Given the description of an element on the screen output the (x, y) to click on. 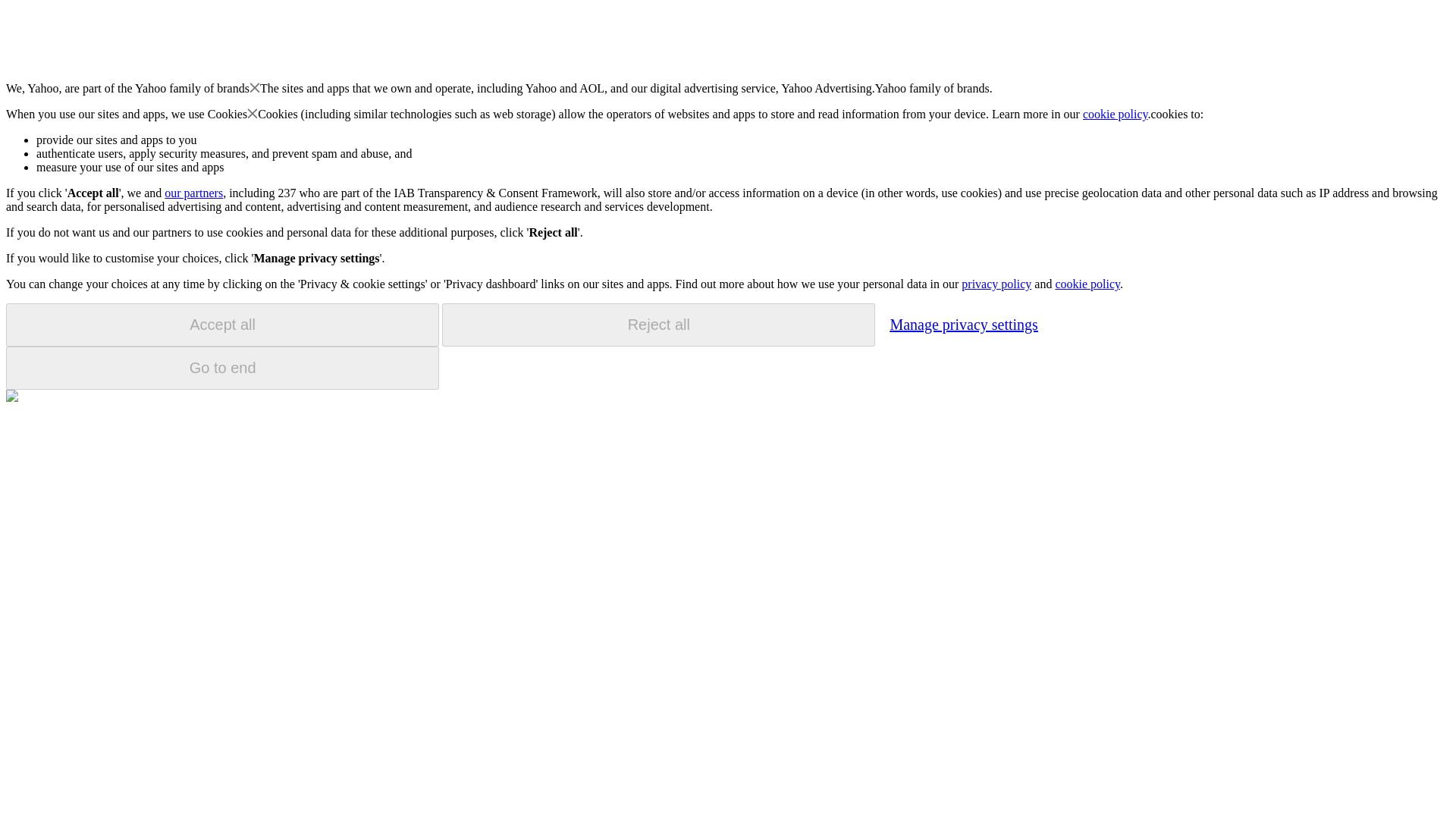
Manage privacy settings (963, 323)
our partners (193, 192)
Accept all (222, 324)
Go to end (222, 367)
cookie policy (1115, 113)
Reject all (658, 324)
cookie policy (1086, 283)
privacy policy (995, 283)
